Given the description of an element on the screen output the (x, y) to click on. 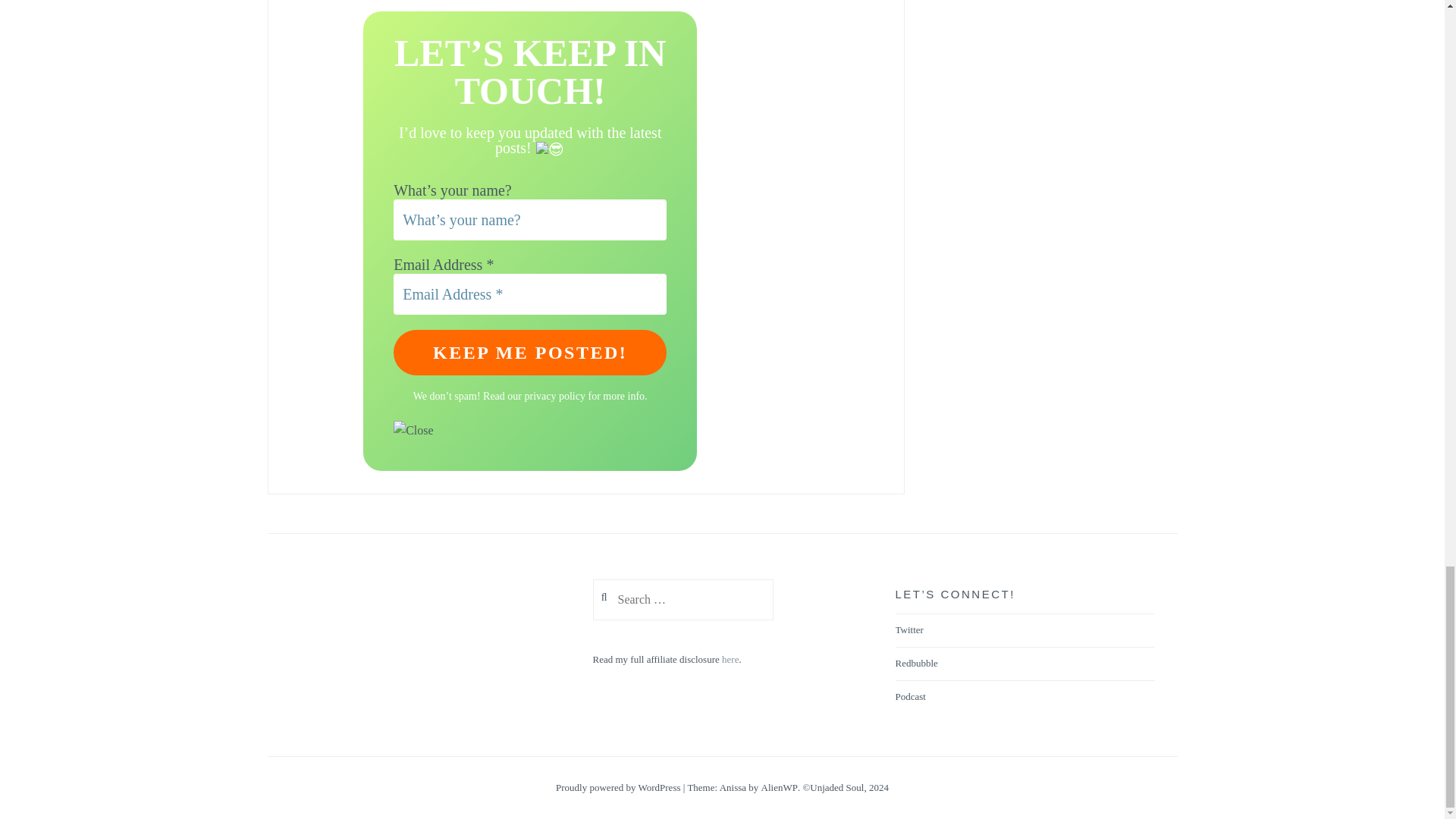
Twitter (909, 630)
here (730, 659)
Proudly powered by WordPress (617, 787)
Email Address (529, 293)
Podcast (909, 696)
AlienWP (779, 787)
Keep me posted! (529, 352)
Keep me posted! (529, 352)
Redbubble (916, 663)
